Given the description of an element on the screen output the (x, y) to click on. 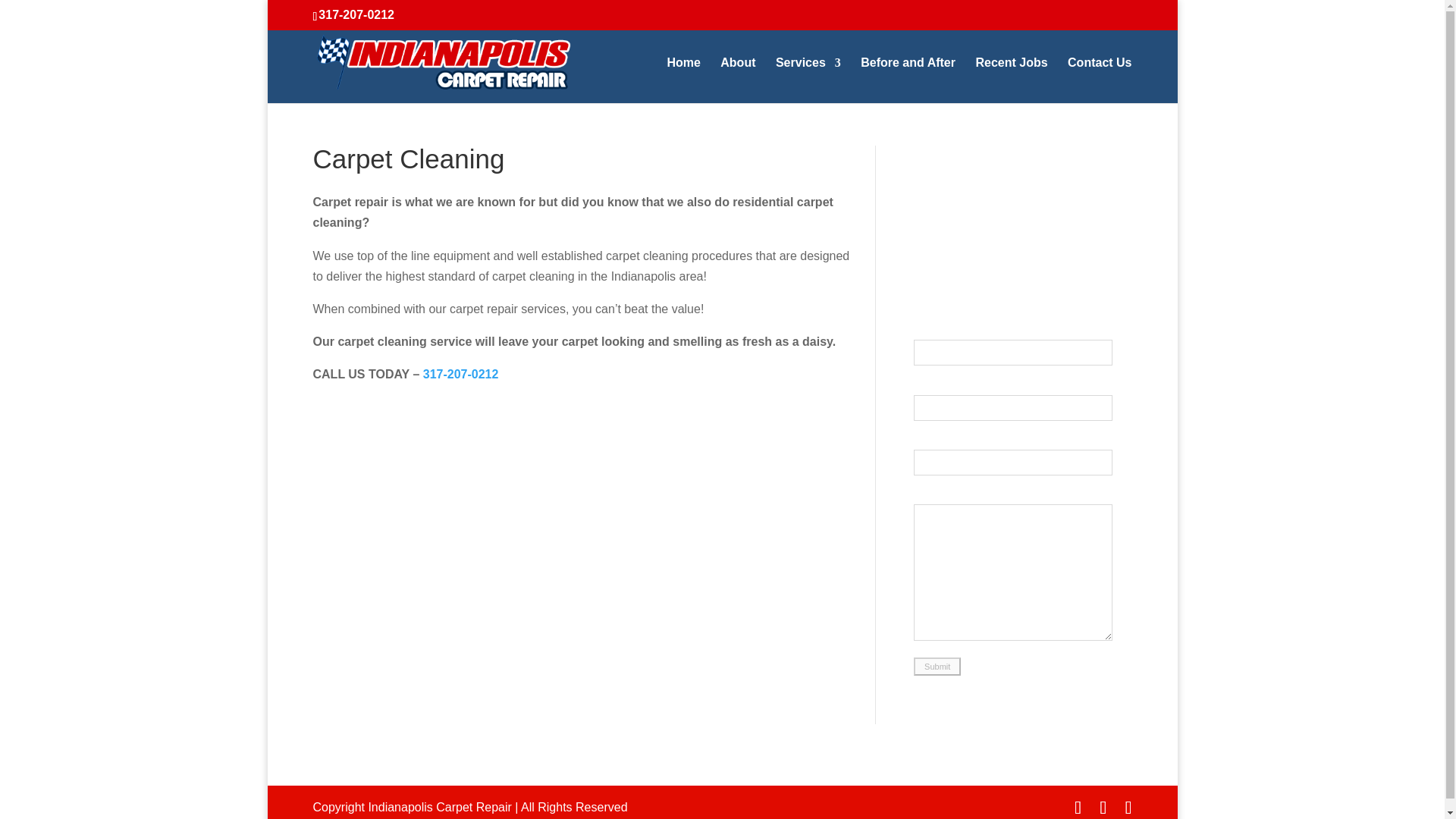
Recent Jobs (1010, 80)
317-207-0212 (356, 14)
Submit (937, 665)
Contact Us (1099, 80)
Before and After (907, 80)
317-207-0212 (461, 373)
Submit (937, 665)
Services (808, 80)
